Given the description of an element on the screen output the (x, y) to click on. 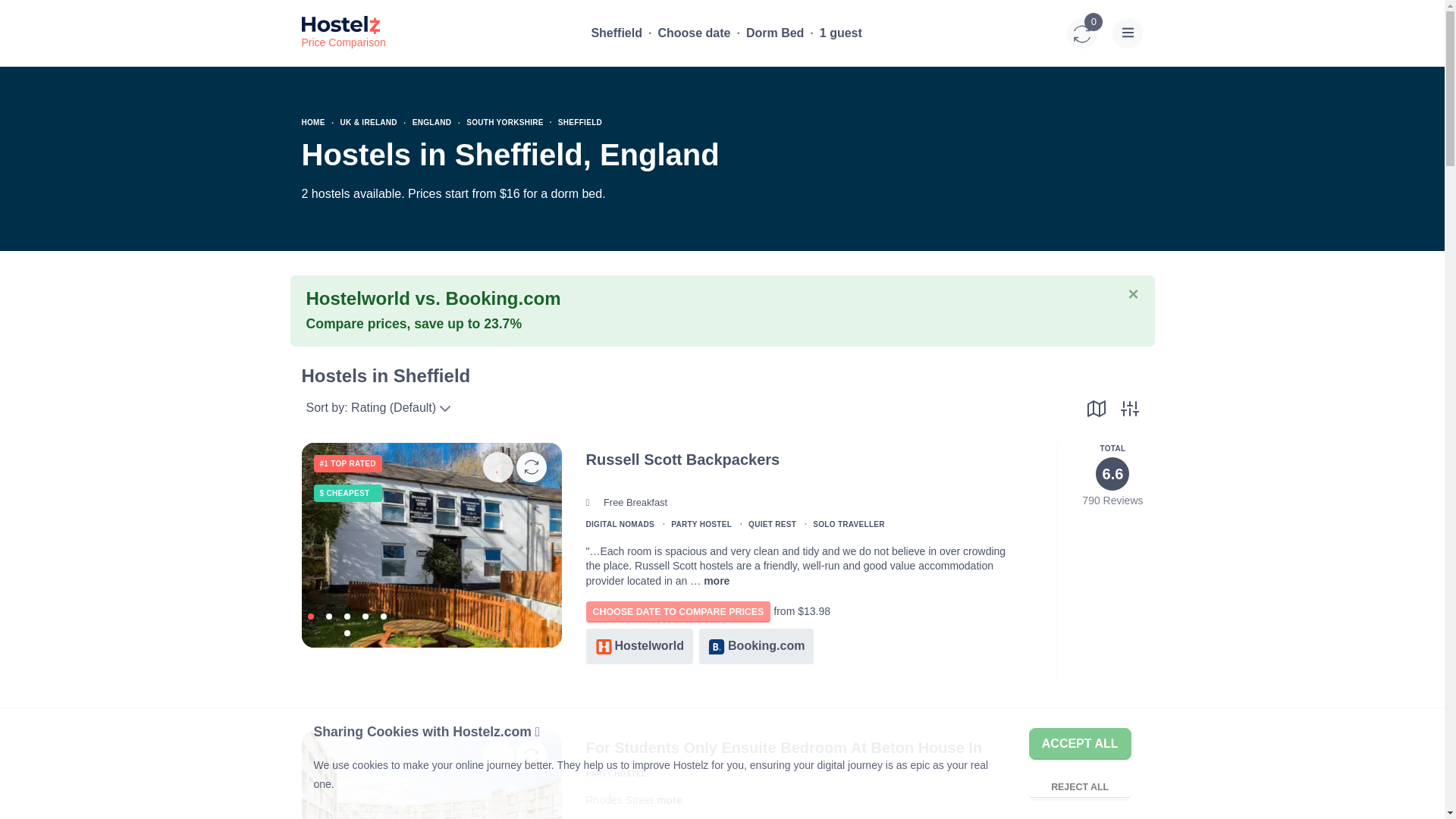
0 (1082, 33)
ENGLAND (431, 122)
Russell Scott Backpackers (431, 543)
SOUTH YORKSHIRE (504, 122)
Hostelz.com - the worlds largest hostel database (343, 32)
Russell Scott Backpackers (1210, 543)
Price Comparison (343, 32)
Russell Scott Backpackers (716, 580)
Russell Scott Backpackers (690, 543)
Hostelworld (639, 646)
